Given the description of an element on the screen output the (x, y) to click on. 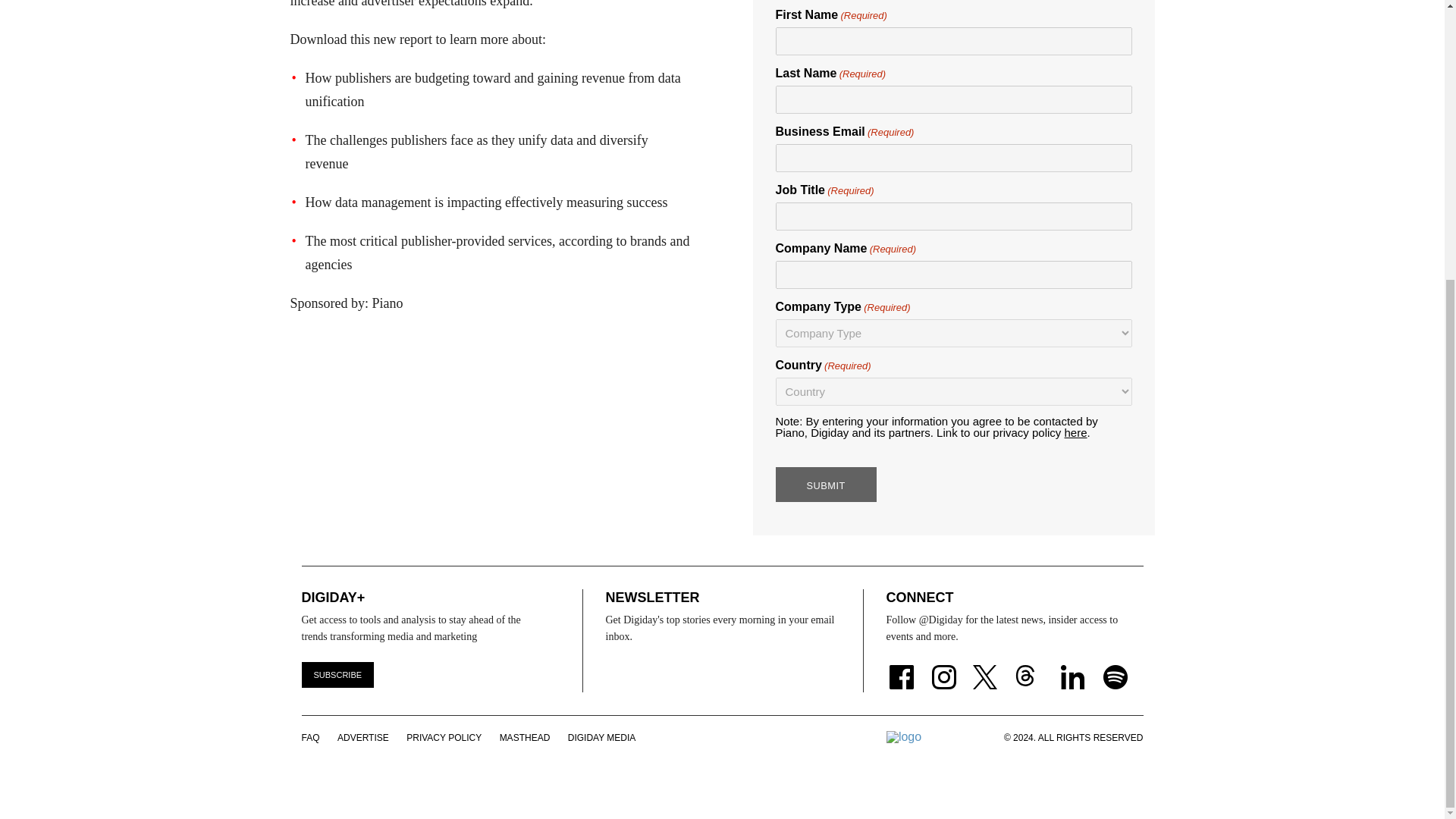
Submit (825, 484)
Follow us on LinkedIn (1072, 667)
Subscribe (337, 674)
Follow us on Threads (1032, 667)
Like us on Facebook (900, 667)
Follow us on Instagram (943, 667)
Follow us on Spotify (1115, 667)
Follow us on Twitter (987, 667)
